Given the description of an element on the screen output the (x, y) to click on. 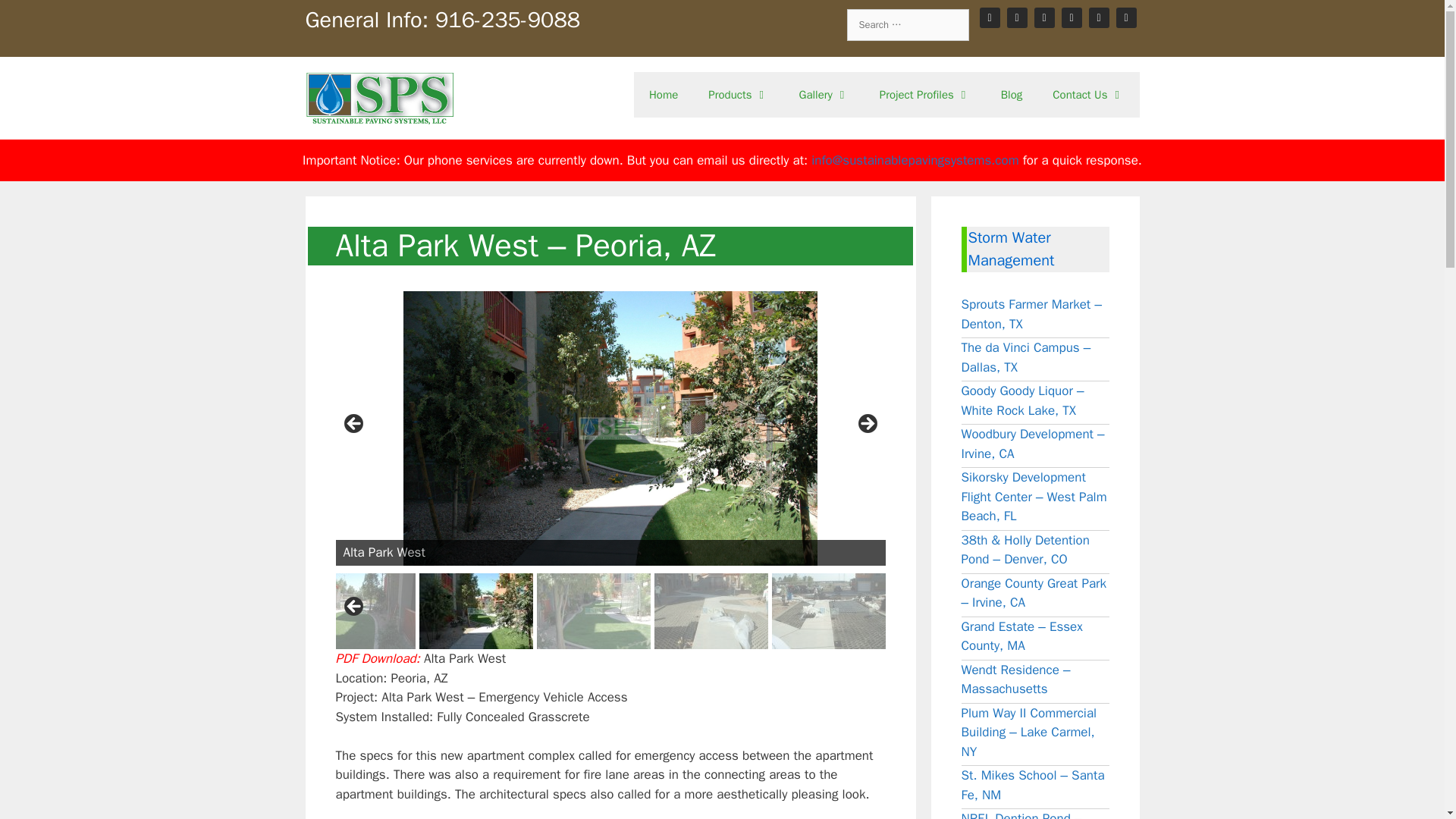
Products (738, 94)
Blog (1010, 94)
Pinterest (1071, 17)
Houzz (1017, 17)
Previous (353, 607)
Gallery (824, 94)
Contact Us (1087, 94)
Facebook (989, 17)
Home (663, 94)
YouTube (1126, 17)
Twitter (1099, 17)
Search for: (906, 24)
Pinterest (1071, 17)
Project Profiles (924, 94)
Twitter (1099, 17)
